Given the description of an element on the screen output the (x, y) to click on. 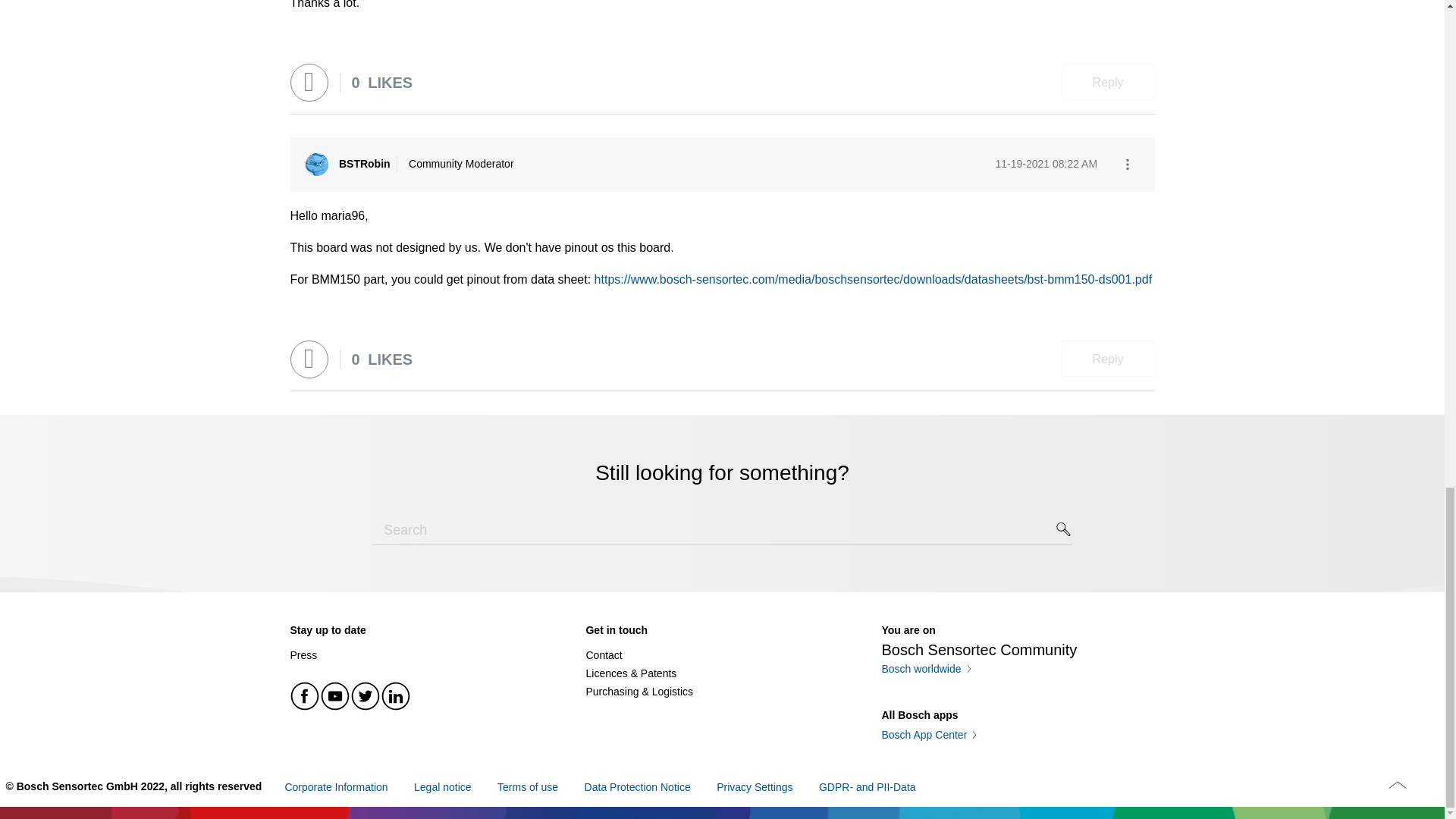
Twitter (365, 695)
Facebook (304, 695)
Icon up (1397, 784)
Icon search (1064, 529)
Youtube (335, 695)
Linkedin (395, 695)
